Given the description of an element on the screen output the (x, y) to click on. 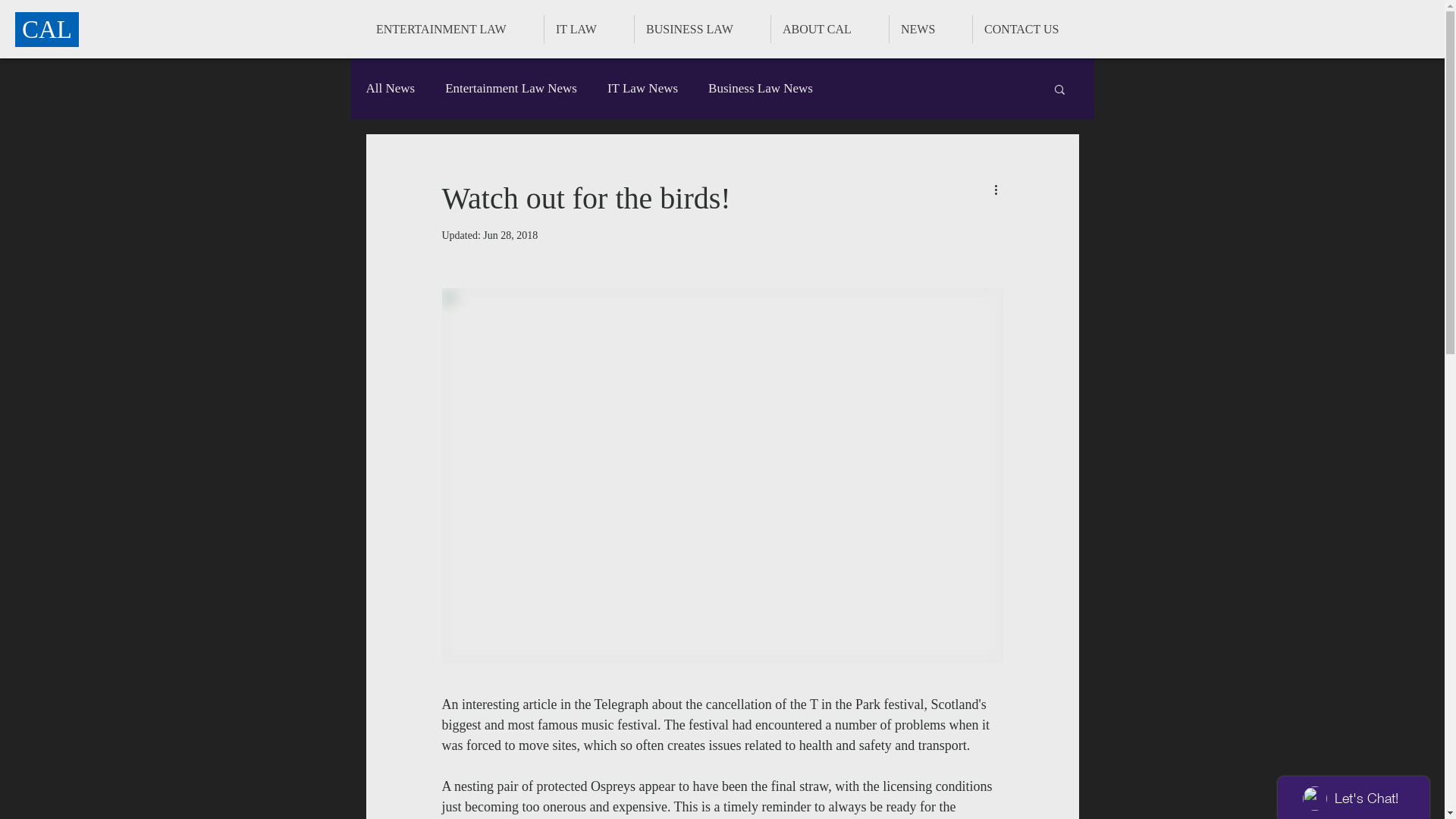
ENTERTAINMENT LAW Element type: text (453, 29)
All News Element type: text (389, 88)
CONTACT US Element type: text (1033, 29)
IT Law News Element type: text (642, 88)
CAL Element type: text (46, 29)
ABOUT CAL Element type: text (829, 29)
Business Law News Element type: text (760, 88)
Entertainment Law News Element type: text (511, 88)
IT LAW Element type: text (588, 29)
BUSINESS LAW Element type: text (702, 29)
NEWS Element type: text (930, 29)
